Given the description of an element on the screen output the (x, y) to click on. 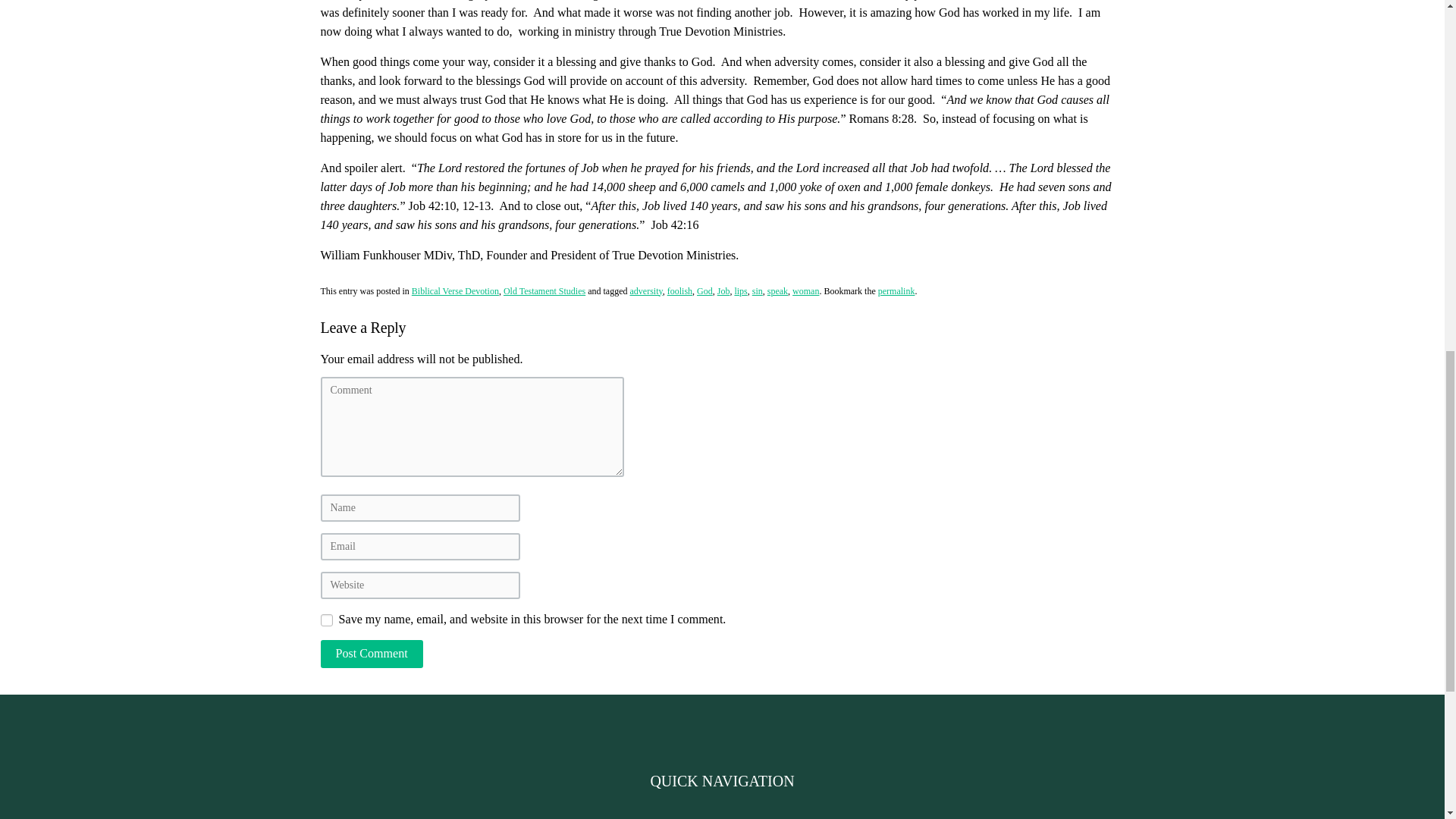
Post Comment (371, 653)
foolish (679, 290)
Job (723, 290)
Permalink to Job 2:10 (896, 290)
speak (777, 290)
sin (757, 290)
yes (325, 620)
woman (805, 290)
Post Comment (371, 653)
lips (739, 290)
permalink (896, 290)
adversity (645, 290)
Old Testament Studies (544, 290)
God (705, 290)
Biblical Verse Devotion (455, 290)
